Given the description of an element on the screen output the (x, y) to click on. 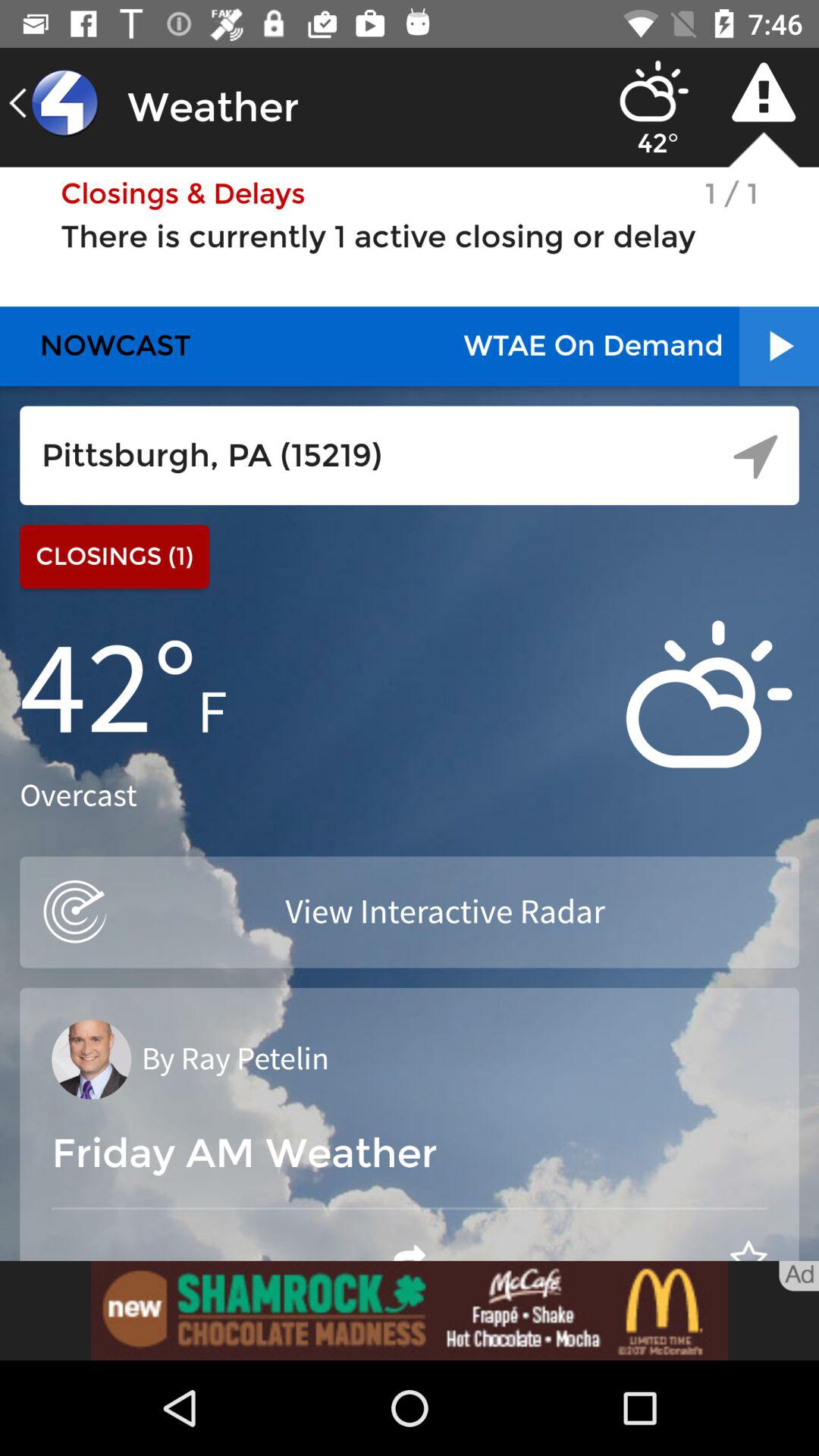
advertisement (409, 1310)
